Given the description of an element on the screen output the (x, y) to click on. 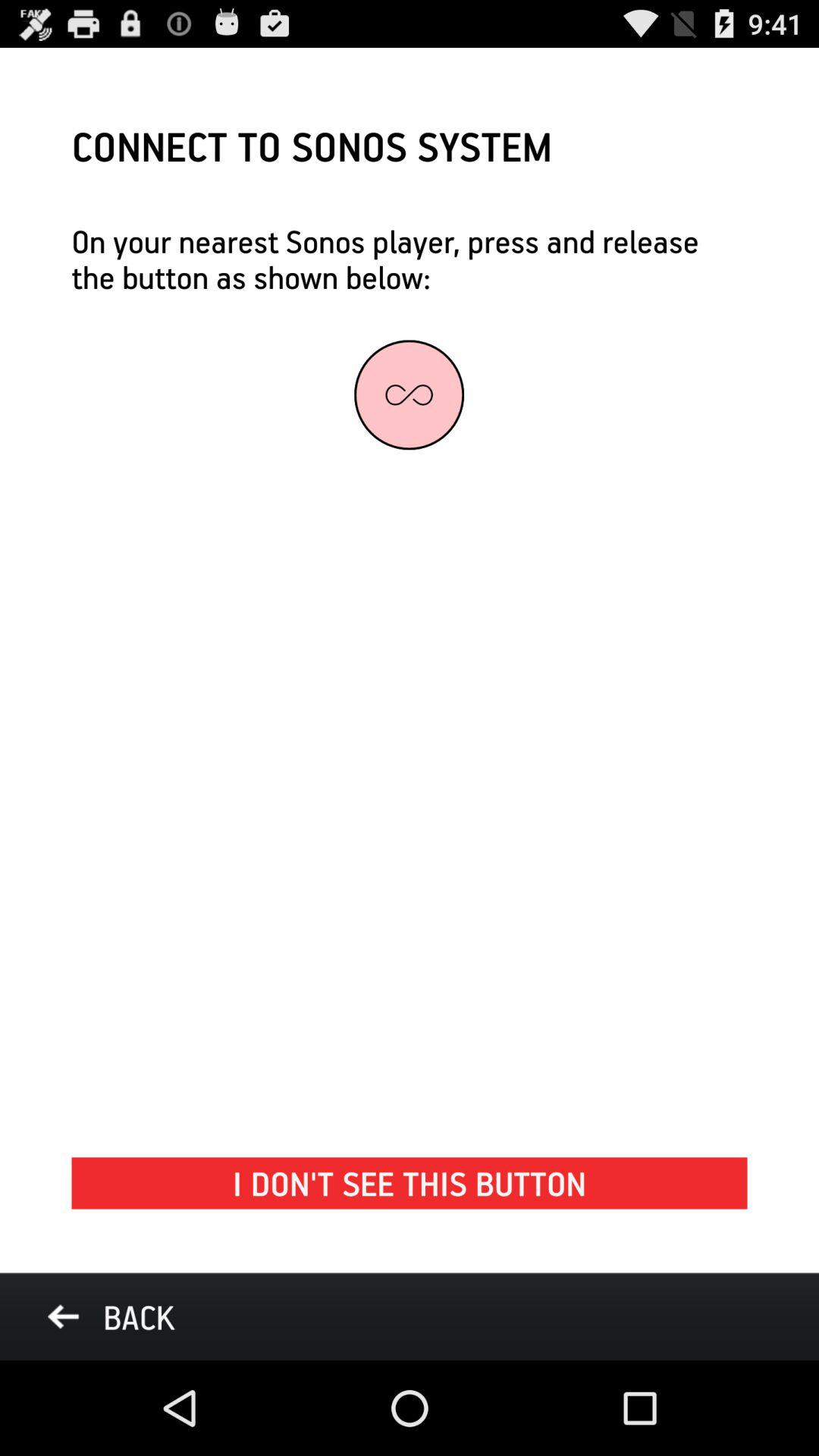
scroll until the i don t icon (409, 1183)
